Given the description of an element on the screen output the (x, y) to click on. 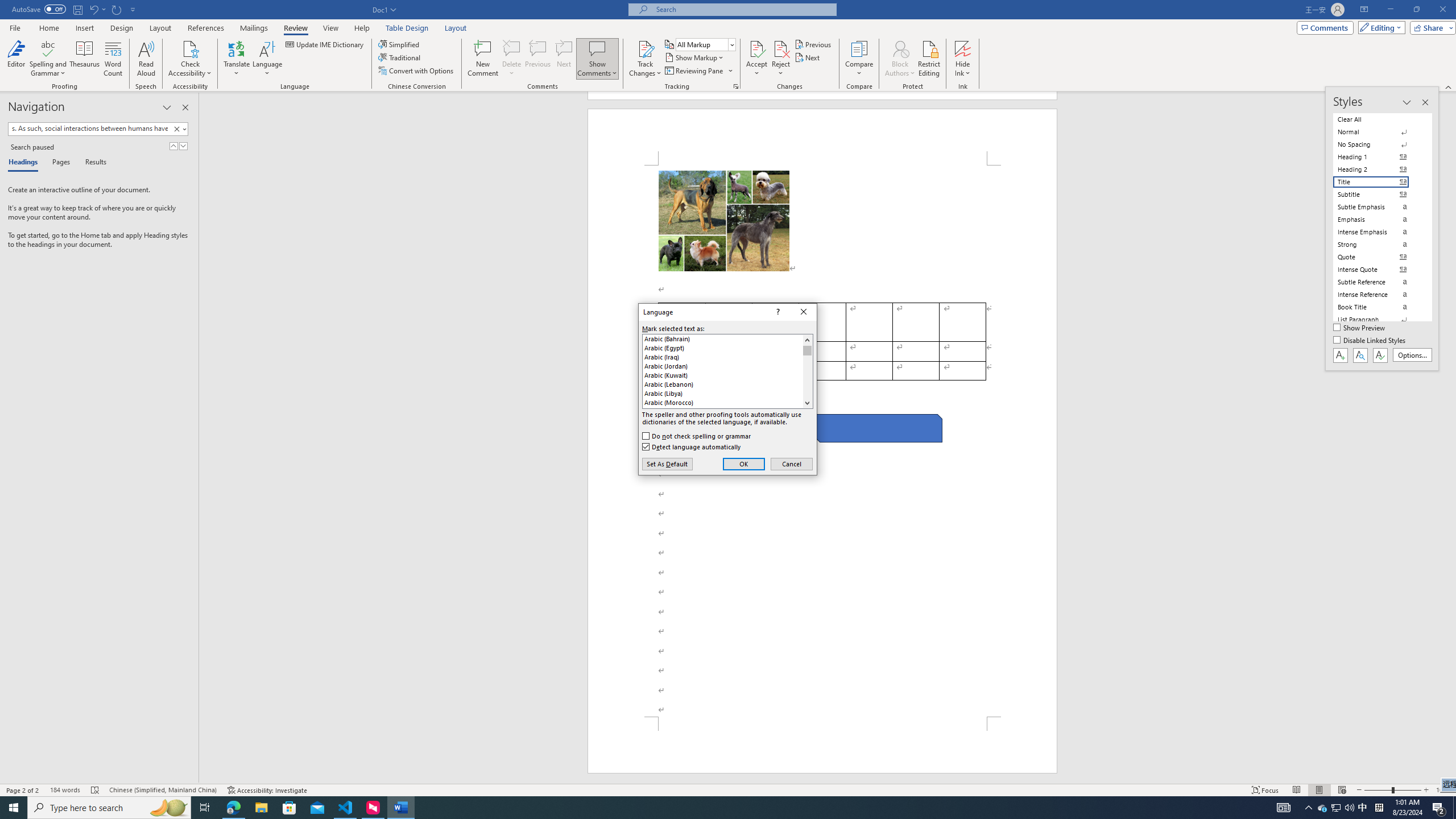
Intense Emphasis (1377, 232)
AutomationID: 21 (807, 370)
Accept and Move to Next (756, 48)
Display for Review (705, 44)
Detect language automatically (692, 446)
OK (743, 463)
Cancel (791, 463)
Running applications (700, 807)
